Given the description of an element on the screen output the (x, y) to click on. 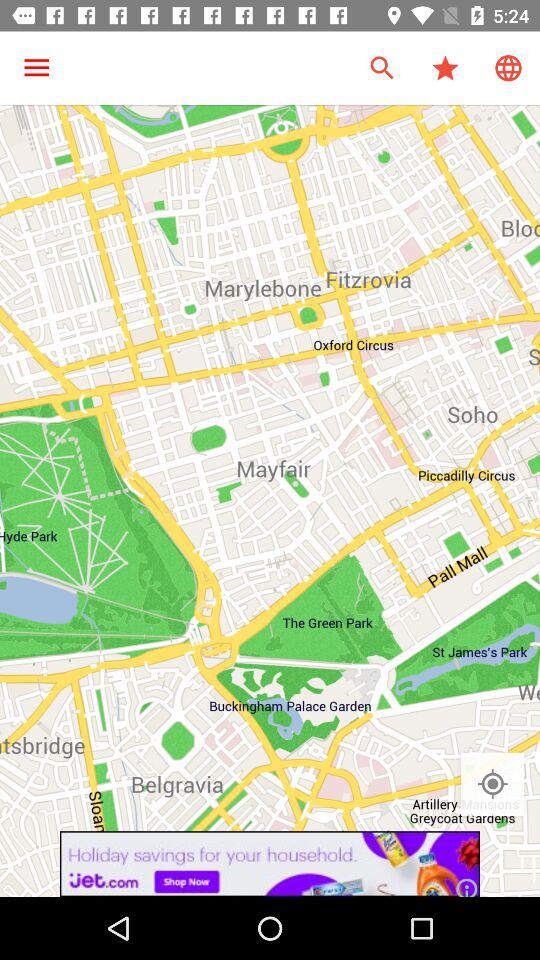
toggle location option (492, 783)
